Given the description of an element on the screen output the (x, y) to click on. 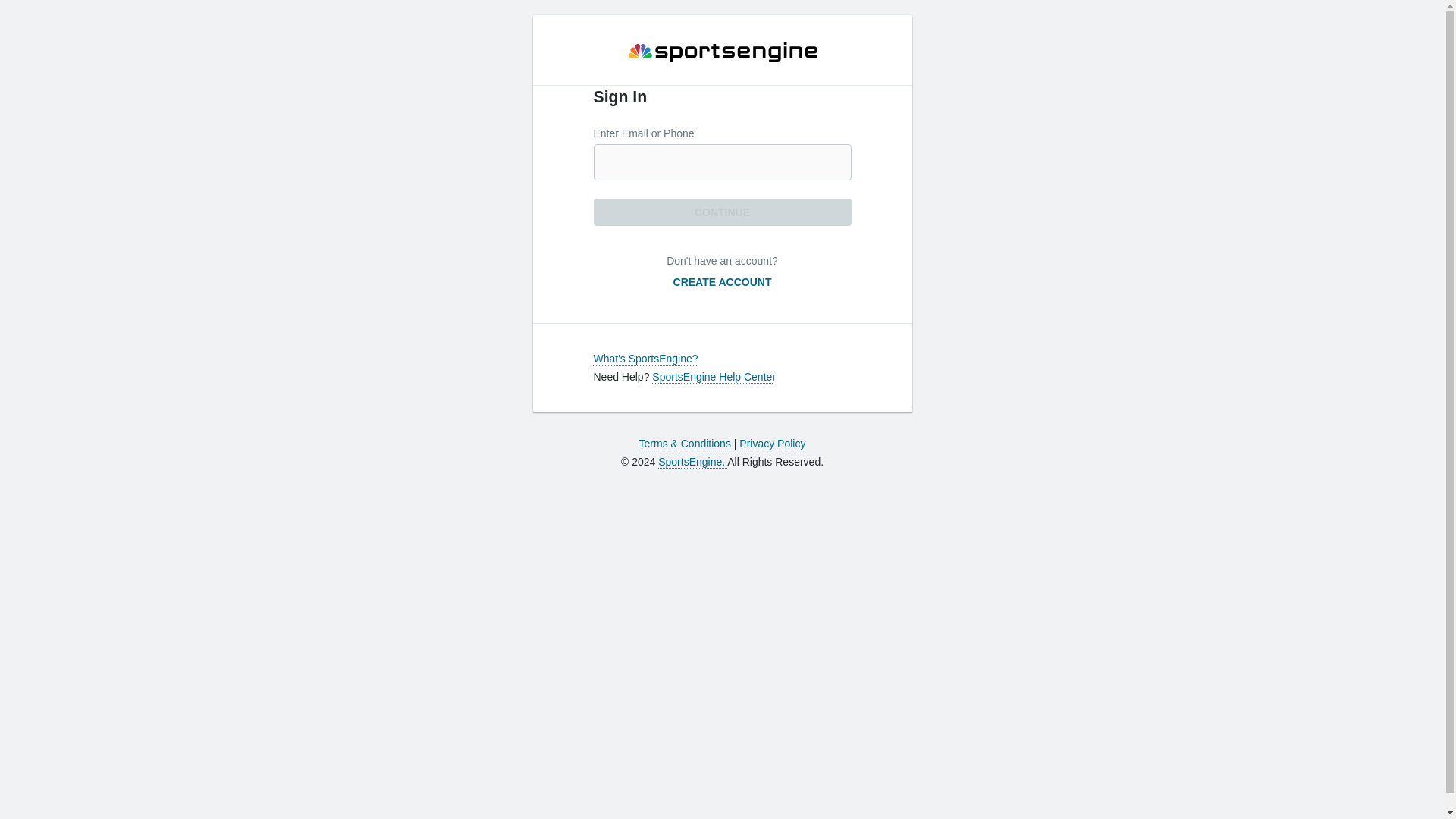
Privacy Policy (772, 443)
What's SportsEngine? (644, 358)
SportsEngine Help Center (714, 377)
Continue (721, 212)
CREATE ACCOUNT (722, 281)
Continue (721, 212)
SportsEngine. (692, 461)
